Given the description of an element on the screen output the (x, y) to click on. 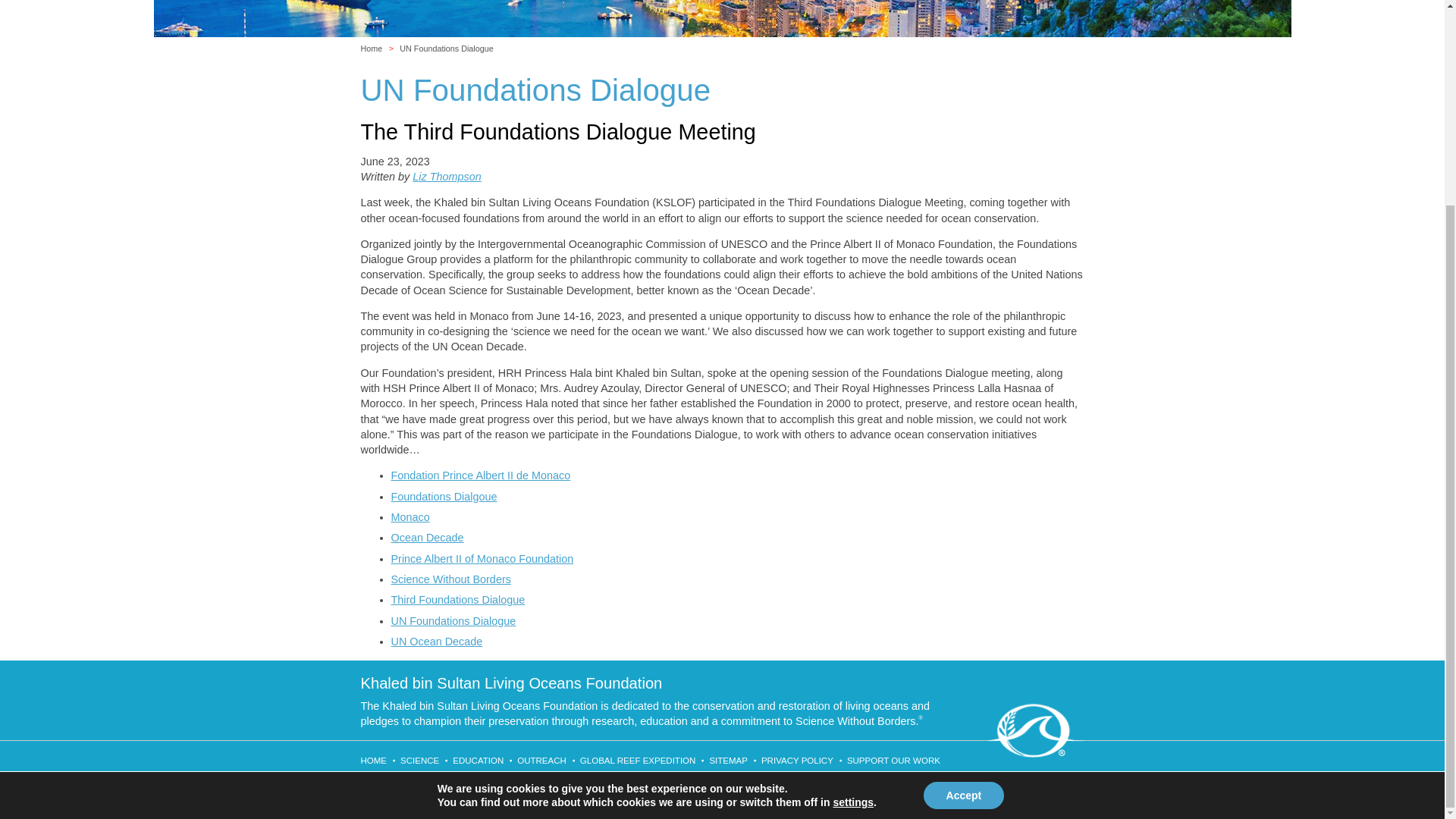
Go to Living Oceans Foundation. (377, 48)
